Given the description of an element on the screen output the (x, y) to click on. 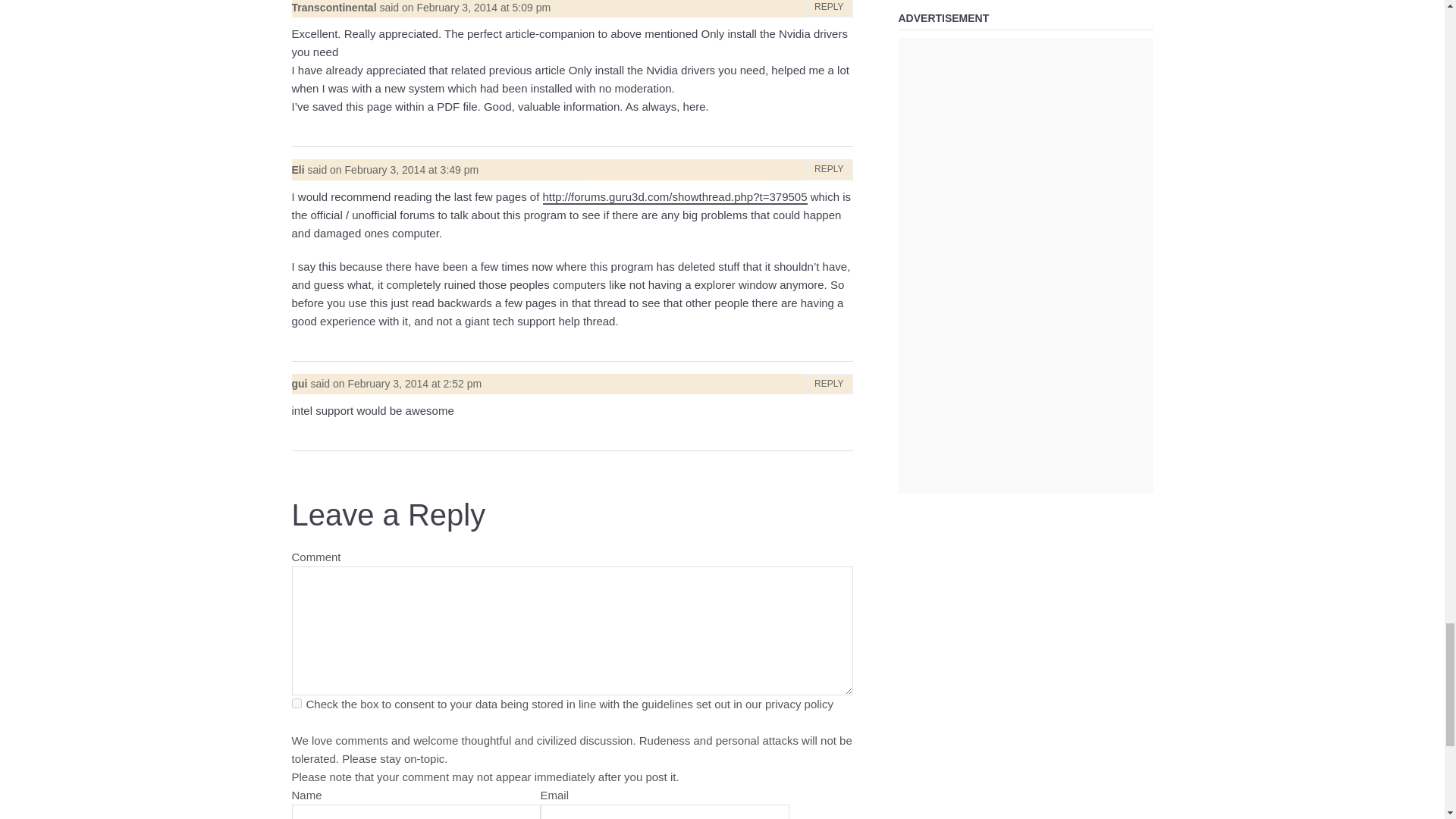
privacy-key (296, 703)
